Given the description of an element on the screen output the (x, y) to click on. 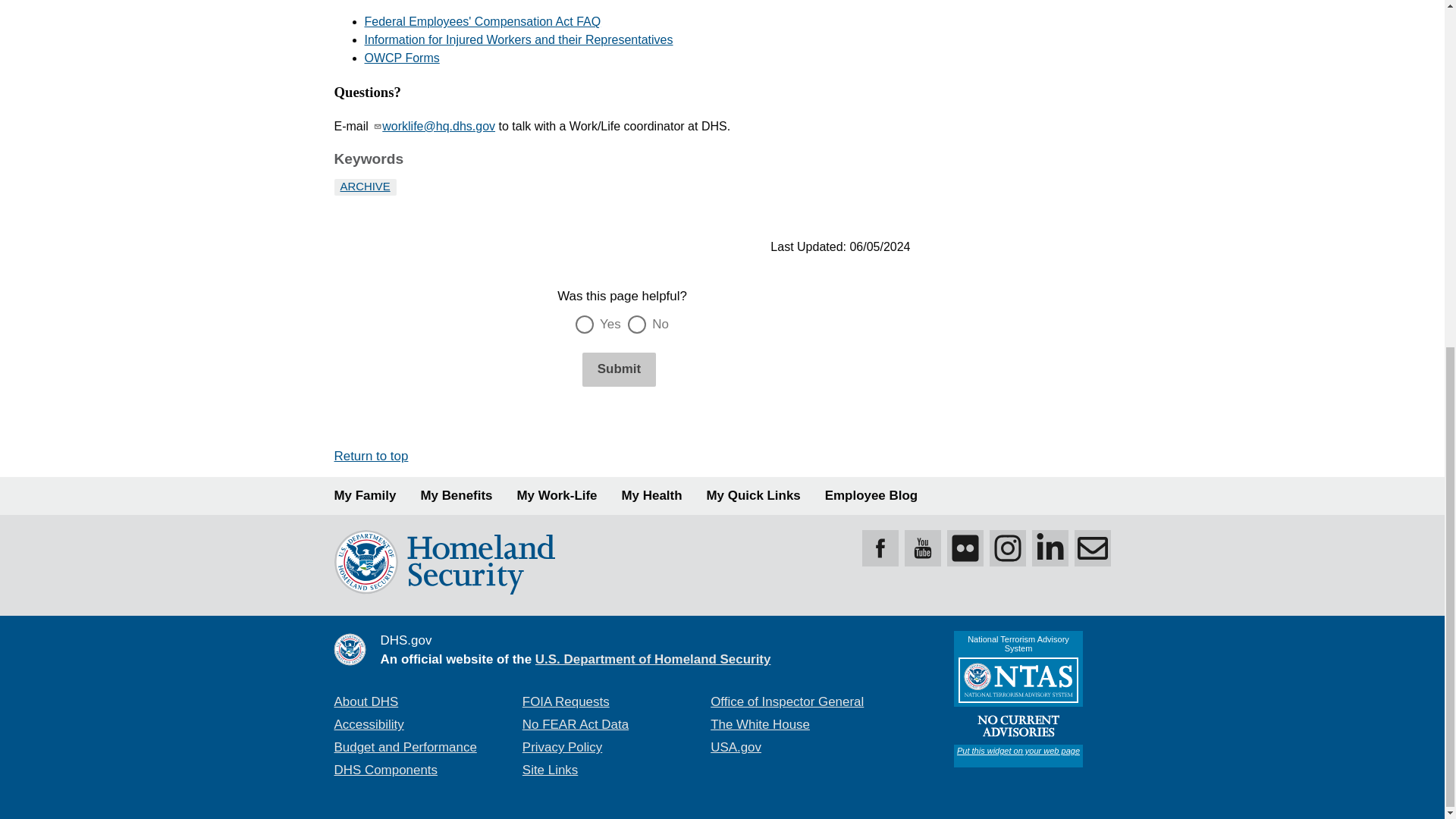
My Benefits (456, 495)
The White House (759, 724)
Submit (619, 368)
Information for Injured Workers and their Representatives (518, 39)
Return to top (370, 455)
Employee Blog (871, 495)
My Quick Links (753, 495)
Submit (619, 368)
My Family (364, 495)
Submit (619, 368)
USA.gov (735, 747)
My Work-Life (556, 495)
National Terrorism Advisory System (1018, 698)
Federal Employees' Compensation Act FAQ (481, 21)
DHS Components (385, 769)
